Given the description of an element on the screen output the (x, y) to click on. 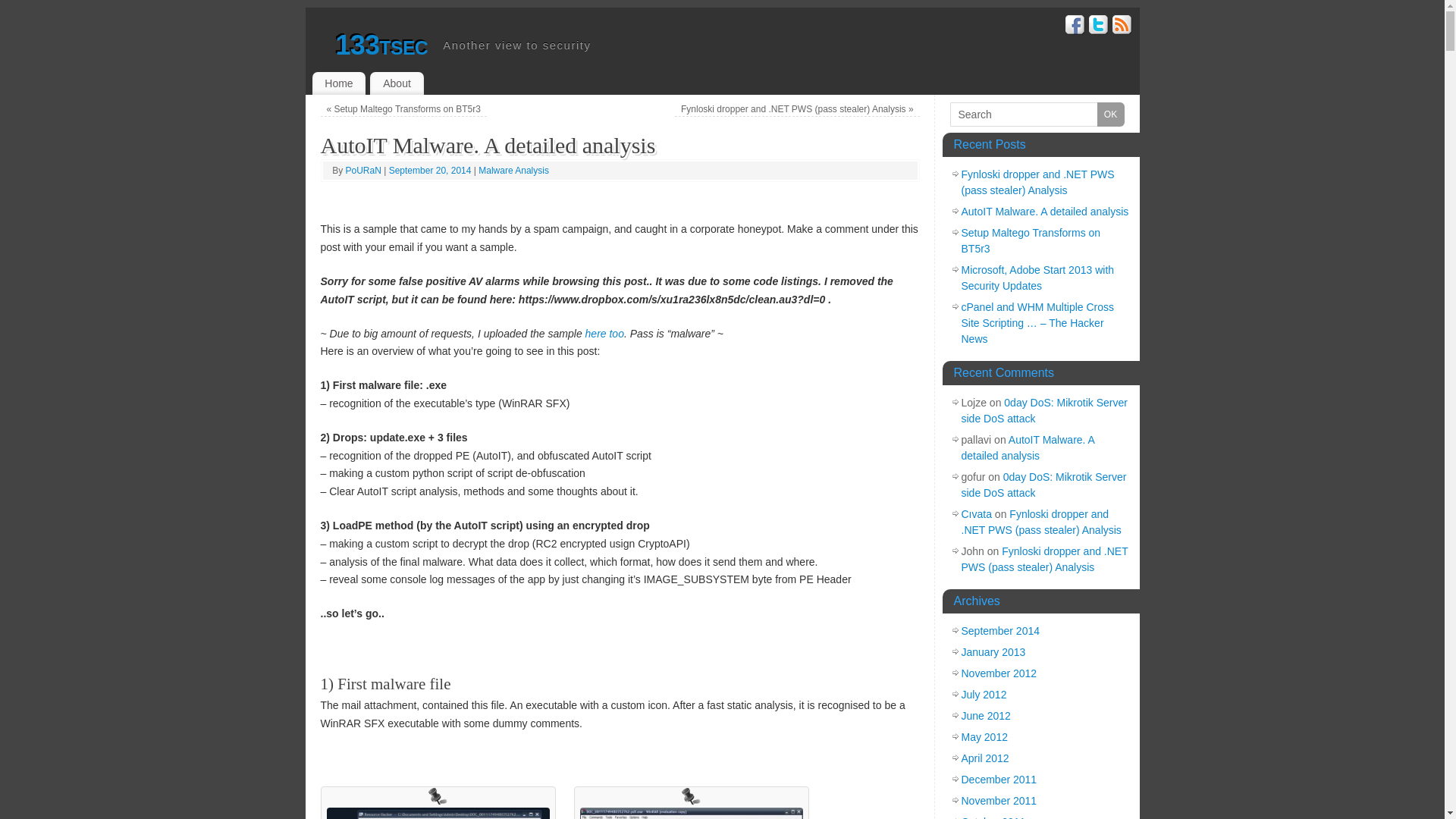
Home Element type: text (339, 83)
September 20, 2014 Element type: text (431, 170)
June 2012 Element type: text (985, 715)
December 2011 Element type: text (999, 779)
Fynloski dropper and .NET PWS (pass stealer) Analysis Element type: text (1044, 559)
July 2012 Element type: text (984, 694)
May 2012 Element type: text (984, 737)
Twitter Element type: hover (1098, 26)
Fynloski dropper and .NET PWS (pass stealer) Analysis Element type: text (1037, 182)
September 2014 Element type: text (1000, 630)
133tsec Element type: text (381, 45)
RSS Element type: hover (1121, 26)
Setup Maltego Transforms on BT5r3 Element type: text (1031, 240)
April 2012 Element type: text (985, 758)
Fynloski dropper and .NET PWS (pass stealer) Analysis Element type: text (1041, 522)
0day DoS: Mikrotik Server side DoS attack Element type: text (1043, 484)
January 2013 Element type: text (993, 652)
AutoIT Malware. A detailed analysis Element type: text (1028, 447)
Malware Analysis Element type: text (513, 170)
here too Element type: text (604, 333)
November 2011 Element type: text (999, 800)
Facebook Element type: hover (1074, 26)
About Element type: text (396, 83)
OK Element type: text (1109, 114)
PoURaN Element type: text (363, 170)
November 2012 Element type: text (999, 673)
AutoIT Malware. A detailed analysis Element type: text (1045, 211)
0day DoS: Mikrotik Server side DoS attack Element type: text (1044, 410)
Microsoft, Adobe Start 2013 with Security Updates Element type: text (1037, 277)
